Given the description of an element on the screen output the (x, y) to click on. 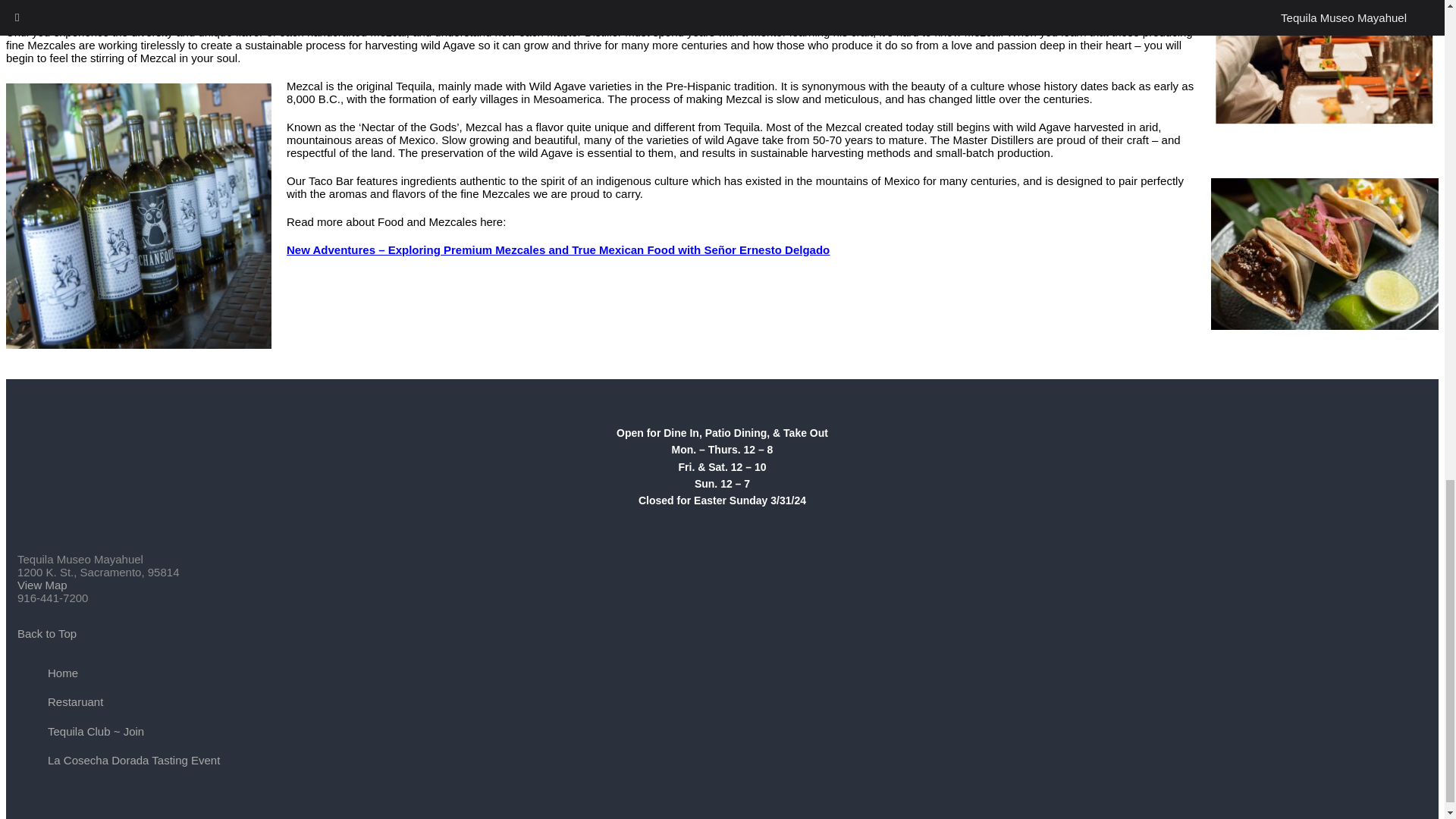
Home (63, 672)
View Map (41, 584)
La Cosecha Dorada Tasting Event (133, 759)
Back to Top (47, 633)
Restaruant (75, 701)
